Given the description of an element on the screen output the (x, y) to click on. 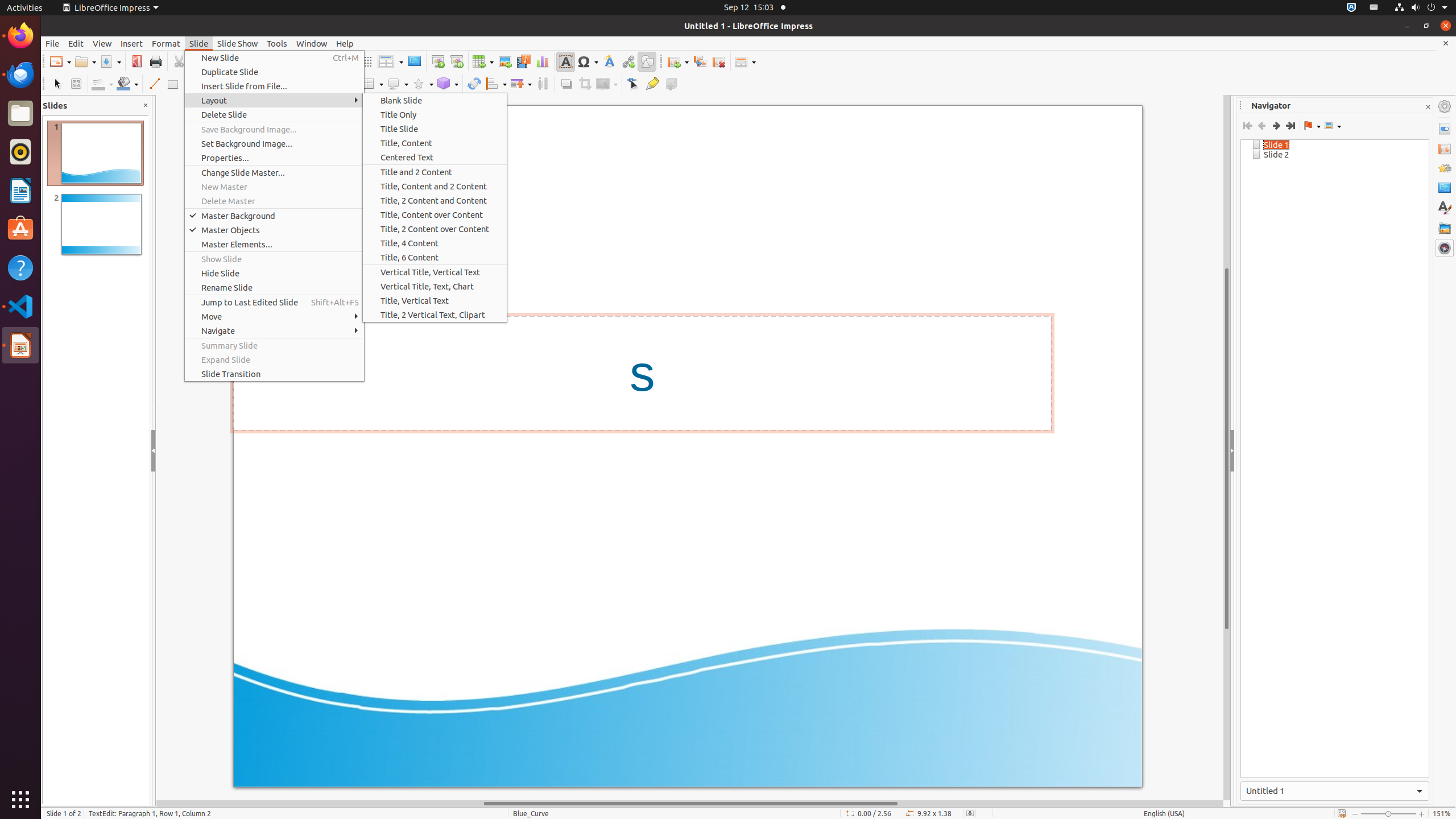
Expand Slide Element type: menu-item (274, 359)
Layout Element type: menu (274, 100)
Horizontal scroll bar Element type: scroll-bar (689, 803)
Previous Slide Element type: push-button (1261, 125)
Title, Content and 2 Content Element type: menu-item (434, 186)
